Given the description of an element on the screen output the (x, y) to click on. 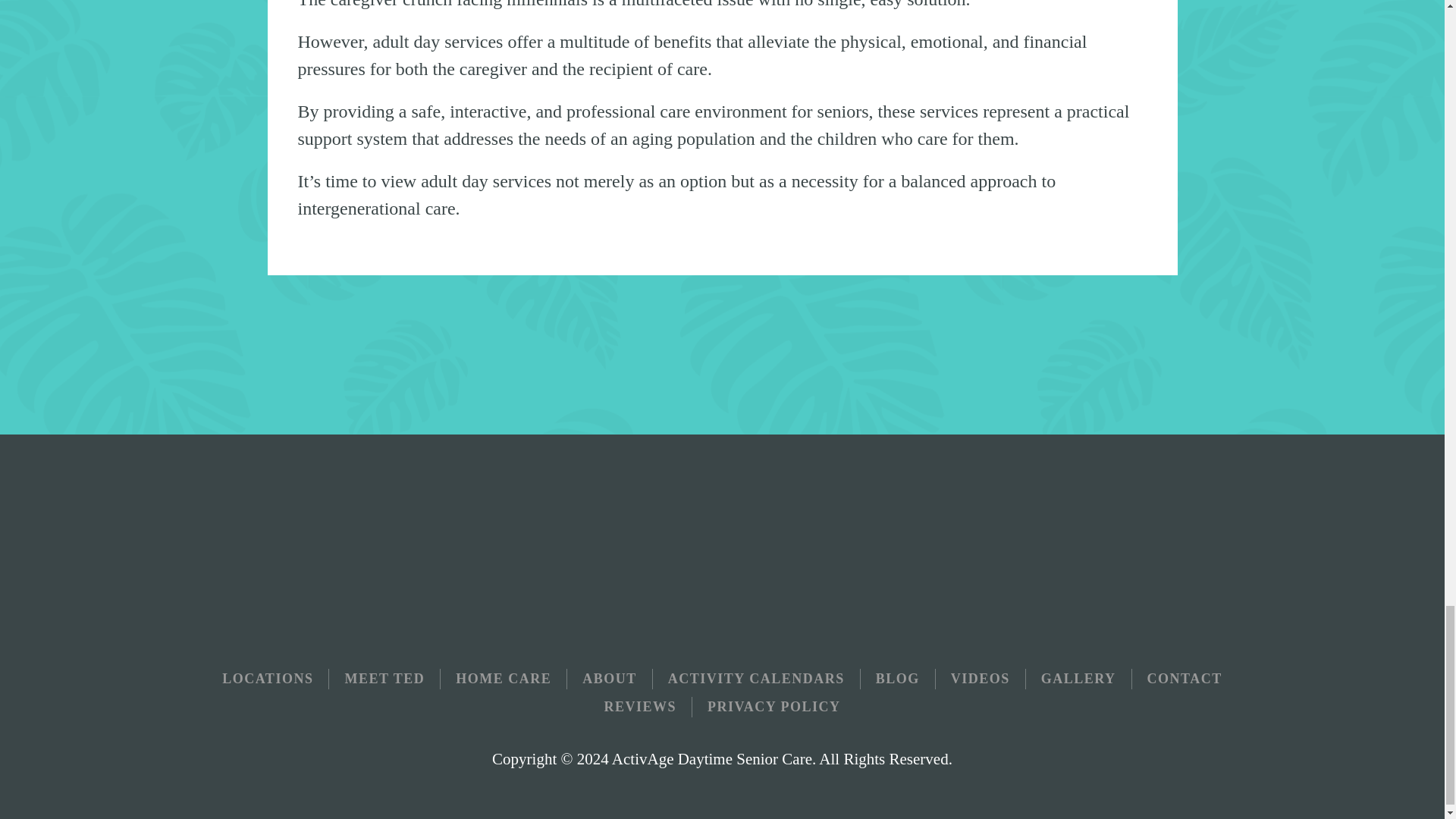
REVIEWS (640, 706)
PRIVACY POLICY (774, 706)
GALLERY (1078, 679)
HOME CARE (503, 679)
LOCATIONS (267, 679)
BLOG (898, 679)
ACTIVITY CALENDARS (756, 679)
MEET TED (384, 679)
CONTACT (1185, 679)
ABOUT (609, 679)
